Given the description of an element on the screen output the (x, y) to click on. 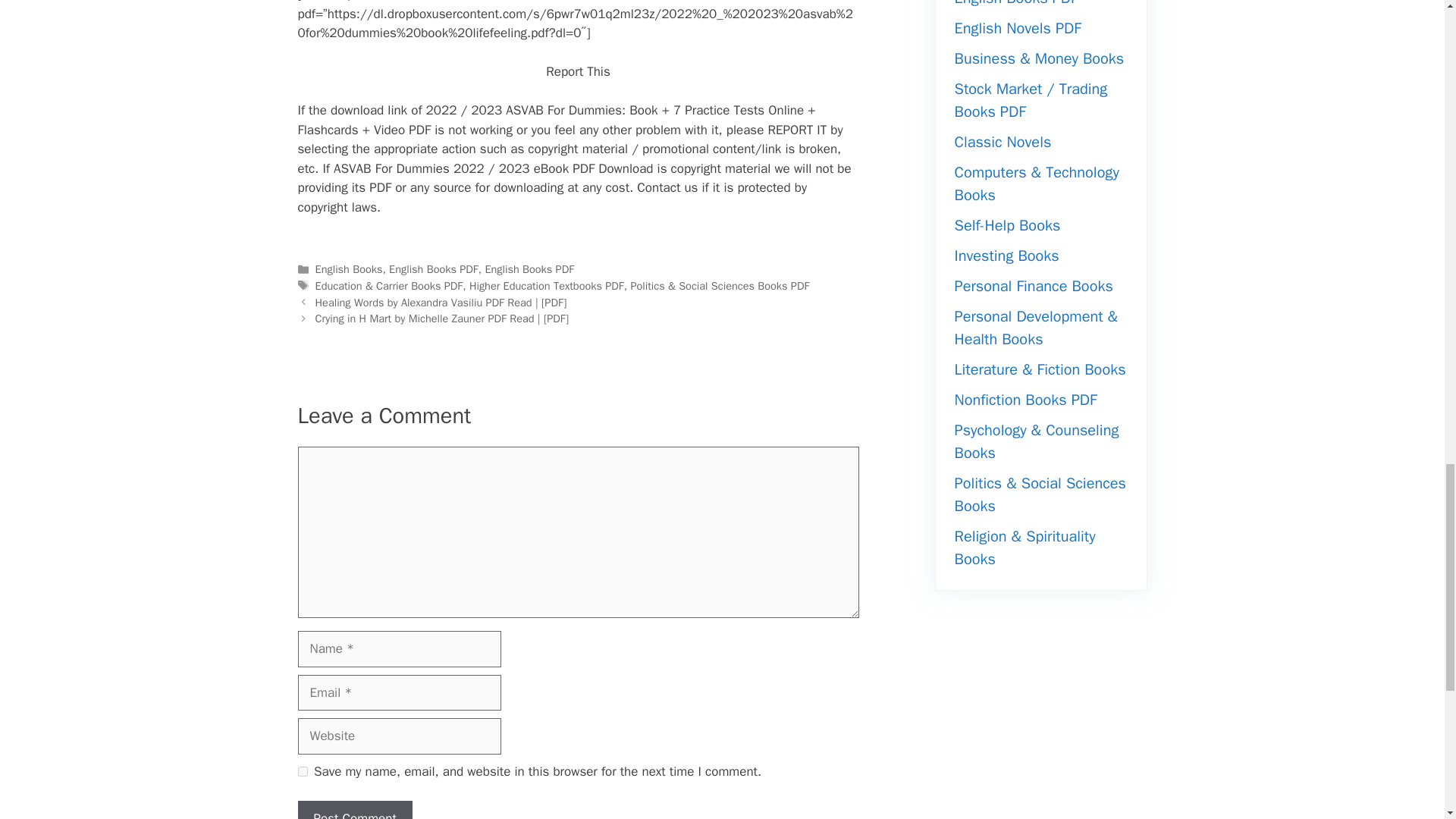
yes (302, 771)
Higher Education Textbooks PDF (546, 285)
English Books (348, 269)
Post Comment (354, 809)
English Books PDF (528, 269)
English Books PDF (433, 269)
Post Comment (354, 809)
